Given the description of an element on the screen output the (x, y) to click on. 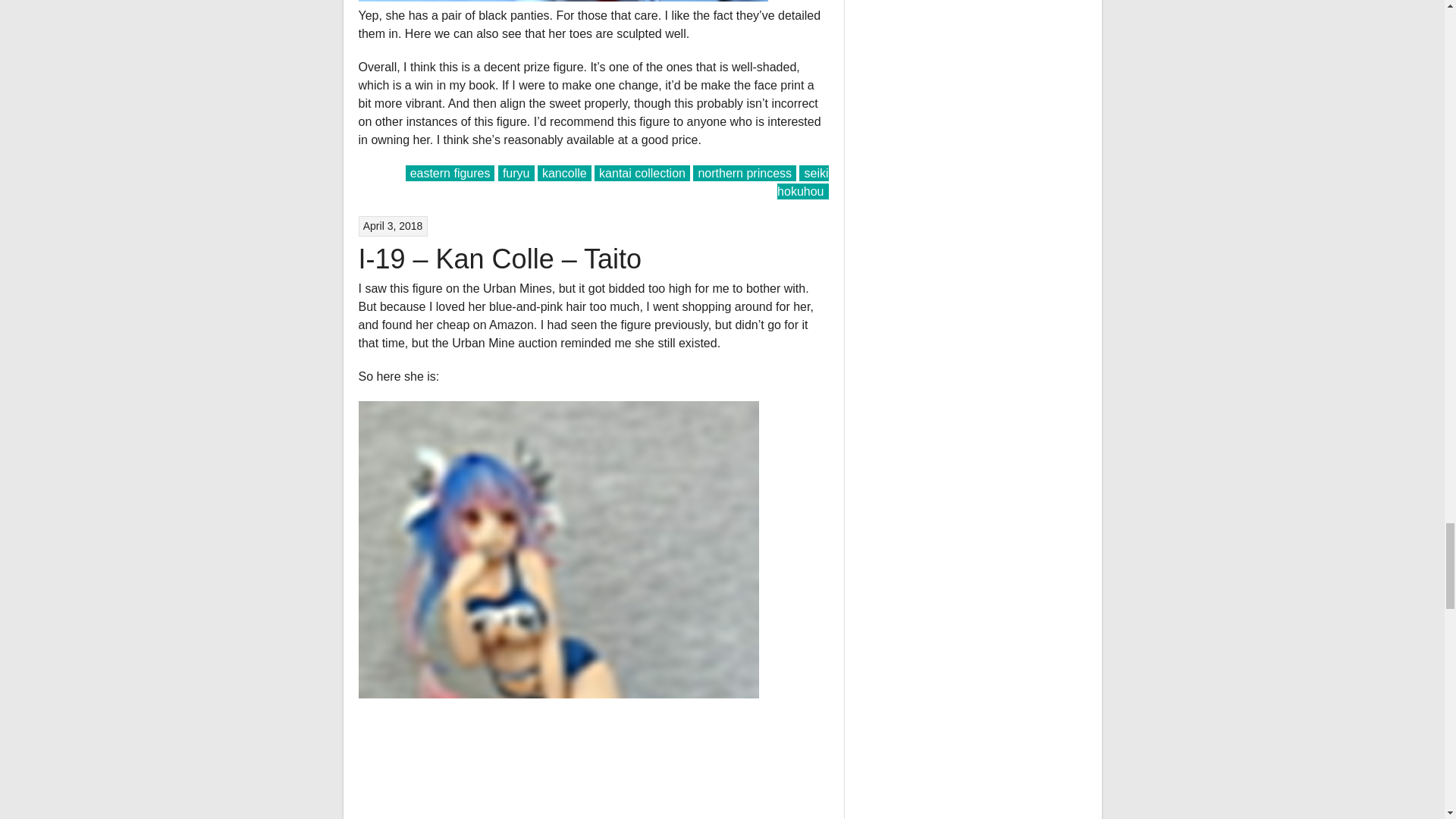
northern princess (744, 172)
eastern figures (450, 172)
kantai collection (642, 172)
kancolle (564, 172)
April 3, 2018 (392, 225)
furyu (515, 172)
seiki hokuhou (802, 182)
